Given the description of an element on the screen output the (x, y) to click on. 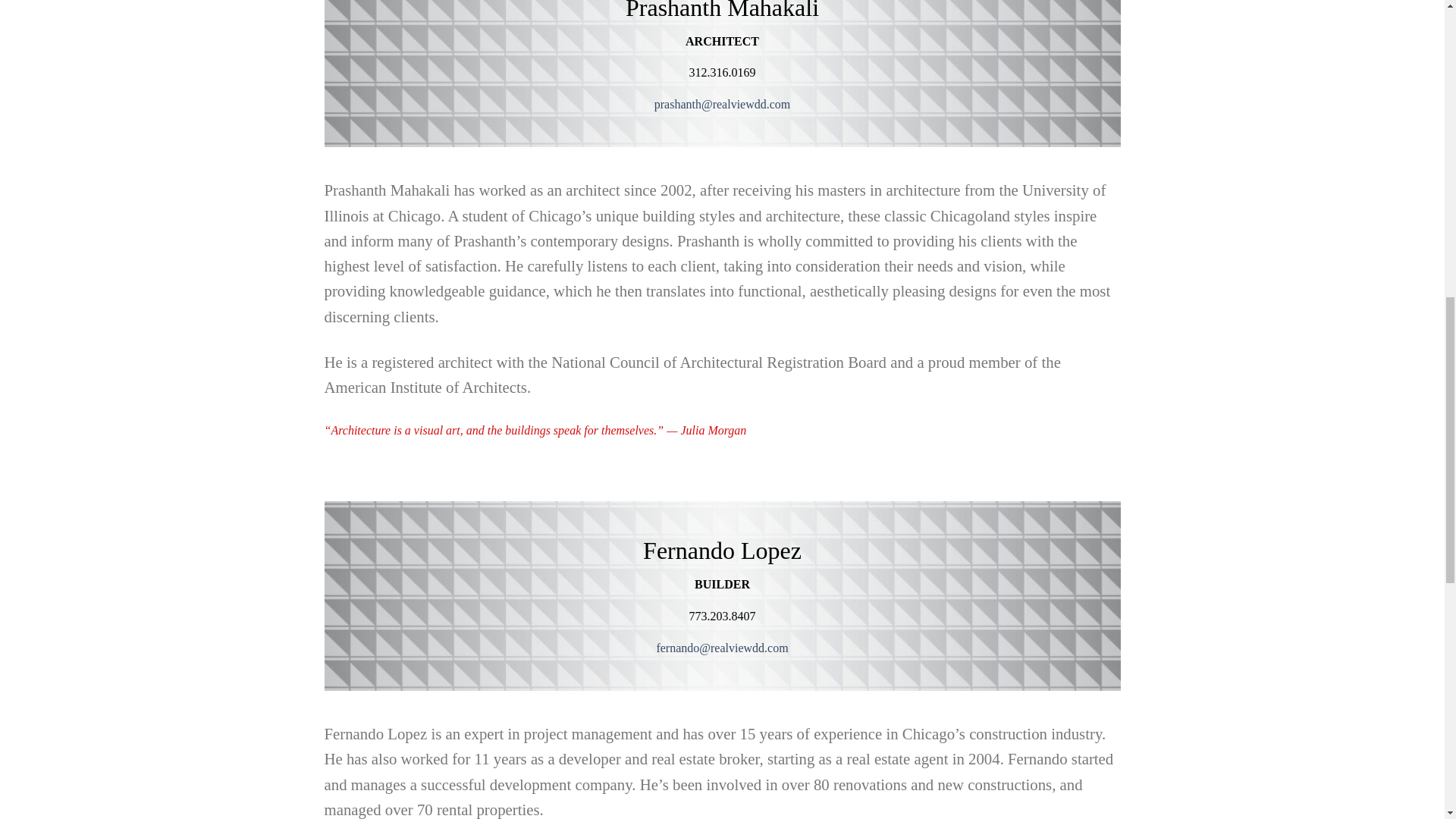
Call with Google Voice (721, 615)
Call with Google Voice (721, 72)
